Given the description of an element on the screen output the (x, y) to click on. 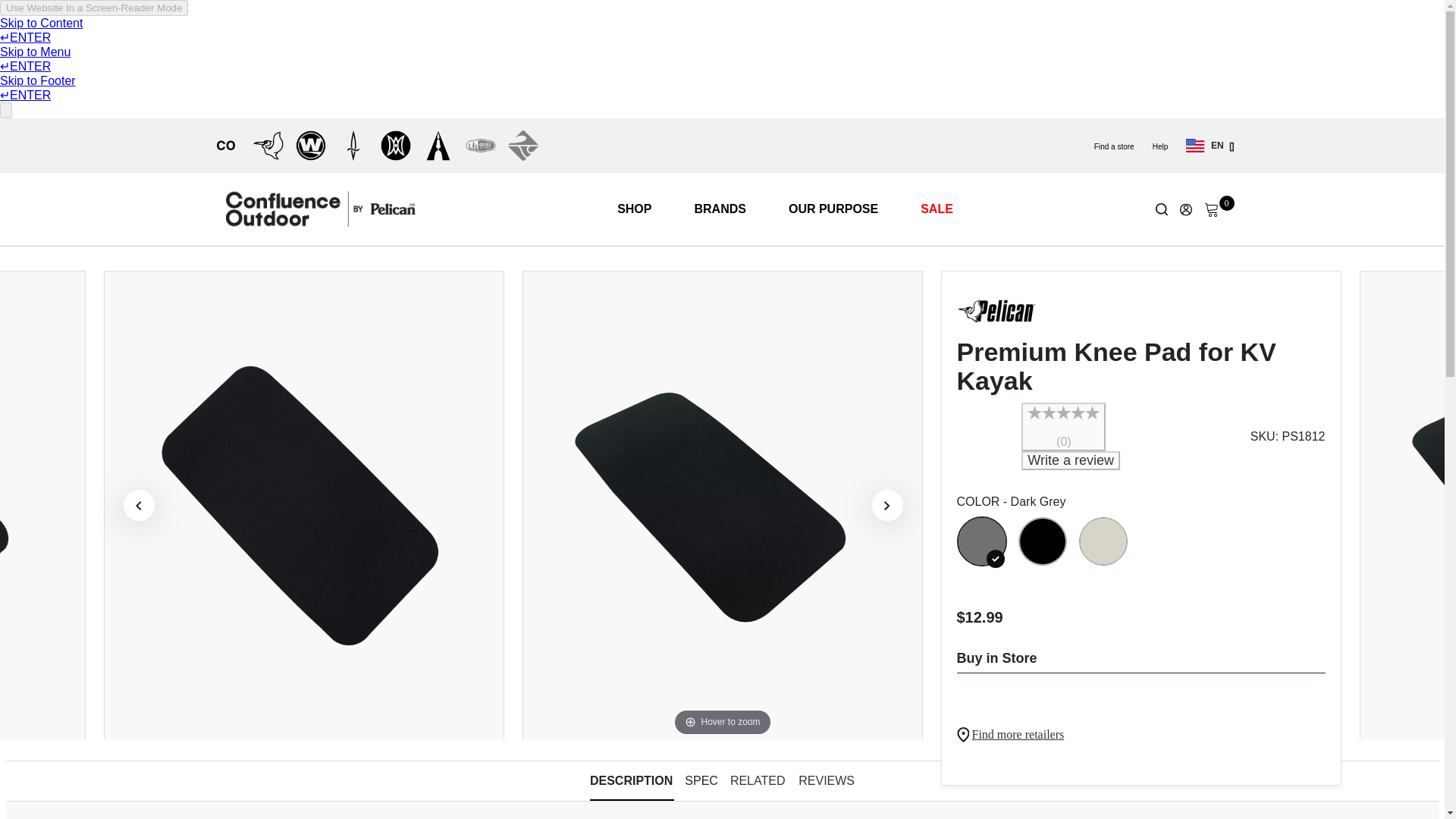
Black (1042, 541)
Buy it Locally (1018, 743)
Grey (1103, 541)
Dark Grey (982, 541)
